Given the description of an element on the screen output the (x, y) to click on. 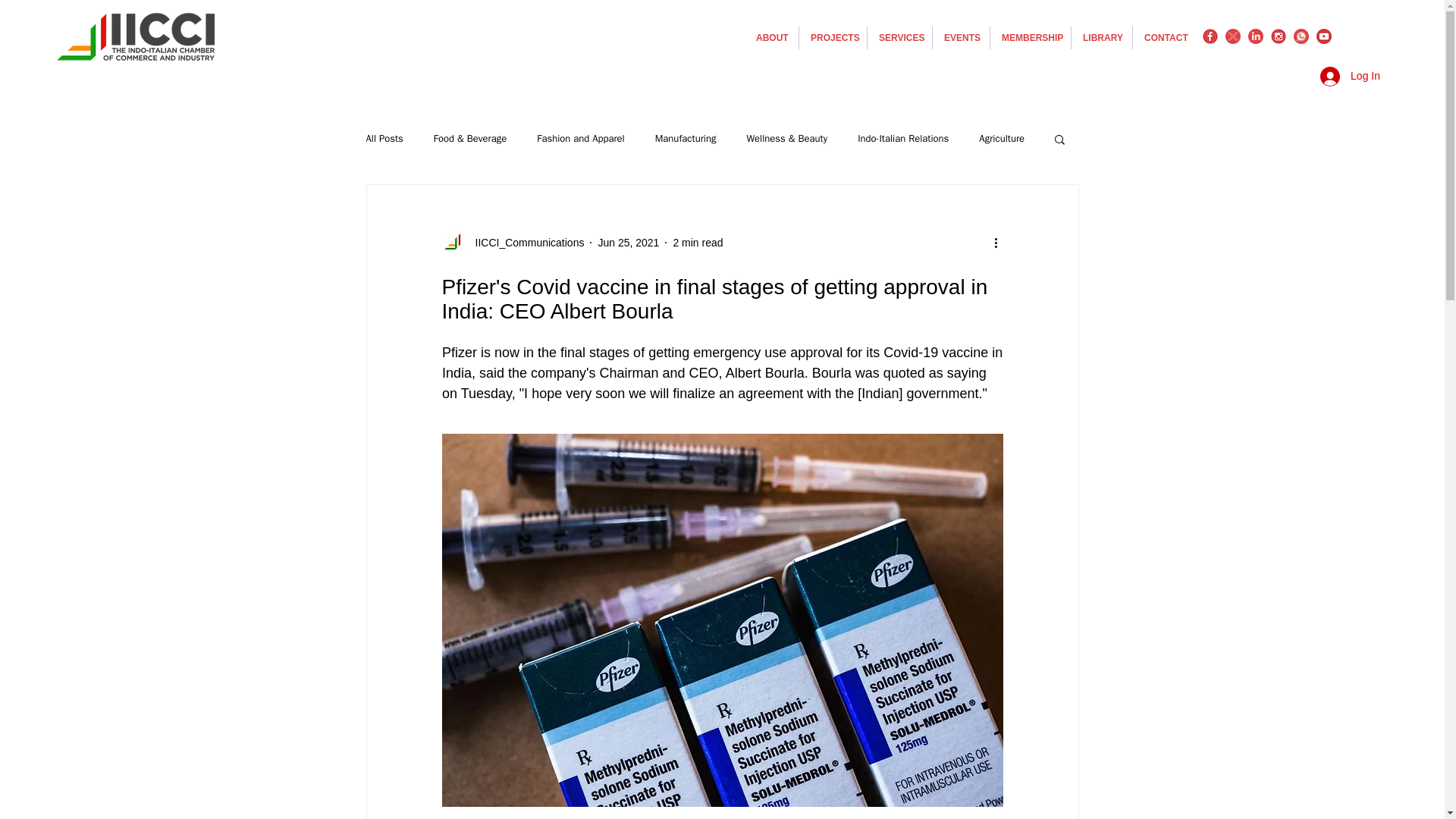
PROJECTS (832, 37)
LIBRARY (1101, 37)
MEMBERSHIP (1030, 37)
2 min read (697, 242)
CONTACT (1164, 37)
SERVICES (899, 37)
EVENTS (961, 37)
ABOUT (770, 37)
Jun 25, 2021 (627, 242)
